Given the description of an element on the screen output the (x, y) to click on. 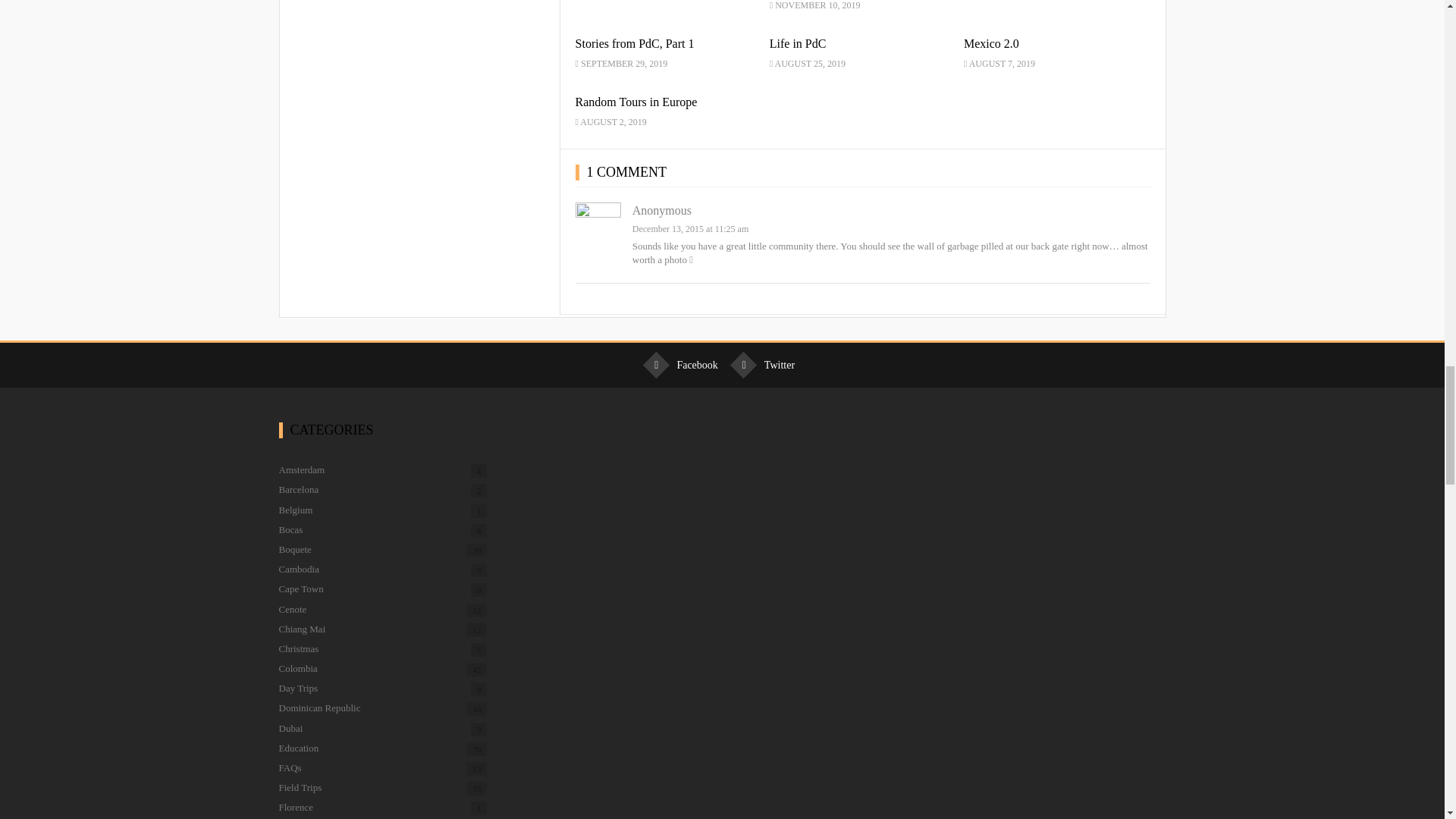
Stories from PdC, Part 1 (634, 42)
